Given the description of an element on the screen output the (x, y) to click on. 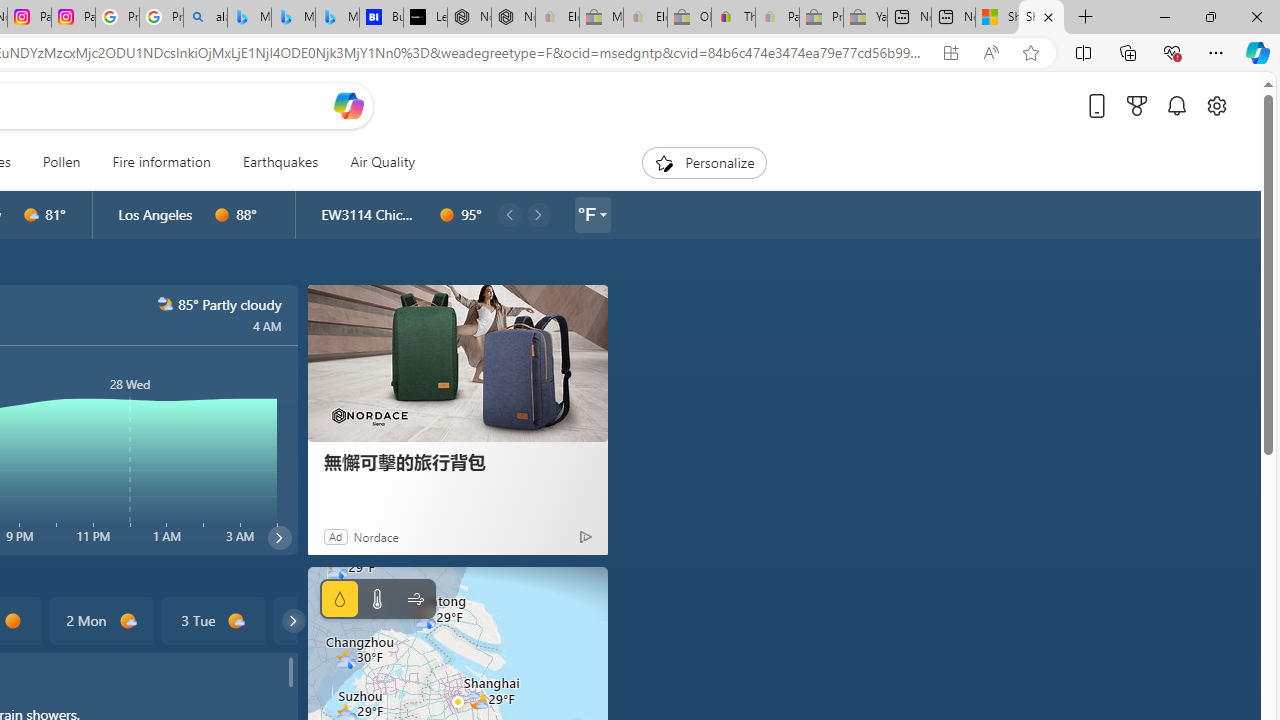
Wind (414, 599)
alabama high school quarterback dies - Search (205, 17)
common/carouselChevron (293, 620)
Microsoft Bing Travel - Shangri-La Hotel Bangkok (337, 17)
